Given the description of an element on the screen output the (x, y) to click on. 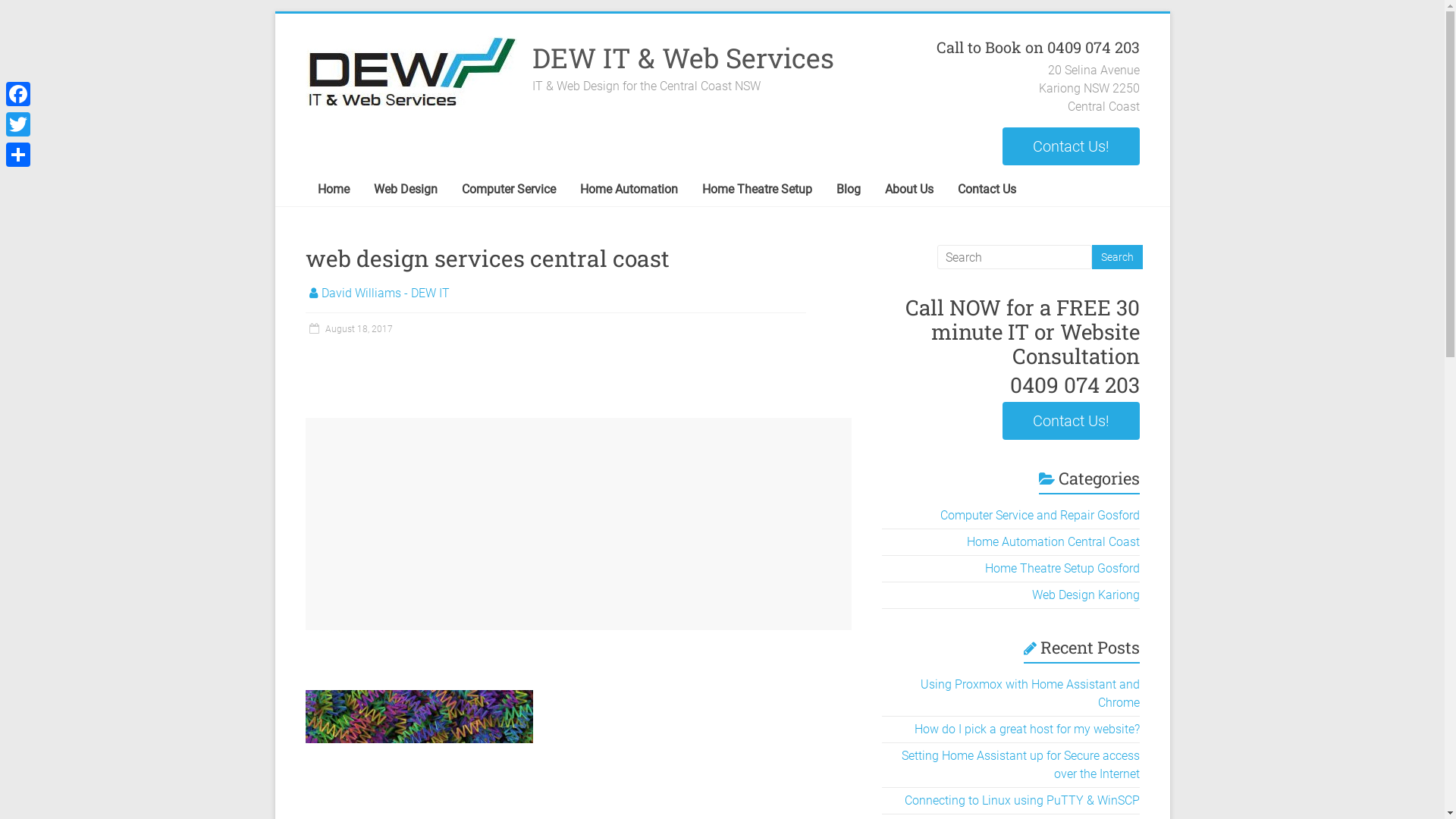
Contact Us Element type: text (985, 189)
How do I pick a great host for my website? Element type: text (1026, 728)
Home Theatre Setup Gosford Element type: text (1061, 568)
Home Element type: text (332, 189)
August 18, 2017 Element type: text (348, 328)
Computer Service and Repair Gosford Element type: text (1039, 515)
Blog Element type: text (847, 189)
Web Design Element type: text (404, 189)
Home Theatre Setup Element type: text (757, 189)
DEW IT & Web Services Element type: text (683, 57)
Home Automation Element type: text (628, 189)
Search Element type: text (1117, 256)
Web Design Kariong Element type: text (1085, 594)
Using Proxmox with Home Assistant and Chrome Element type: text (1029, 693)
Computer Service Element type: text (507, 189)
Home Automation Central Coast Element type: text (1052, 541)
Twitter Element type: text (18, 124)
Skip to content Element type: text (274, 12)
Share Element type: text (18, 154)
Contact Us! Element type: text (1070, 420)
Facebook Element type: text (18, 93)
Contact Us! Element type: text (1070, 146)
About Us Element type: text (908, 189)
Connecting to Linux using PuTTY & WinSCP Element type: text (1021, 800)
Advertisement Element type: hover (577, 523)
David Williams - DEW IT Element type: text (385, 292)
